Given the description of an element on the screen output the (x, y) to click on. 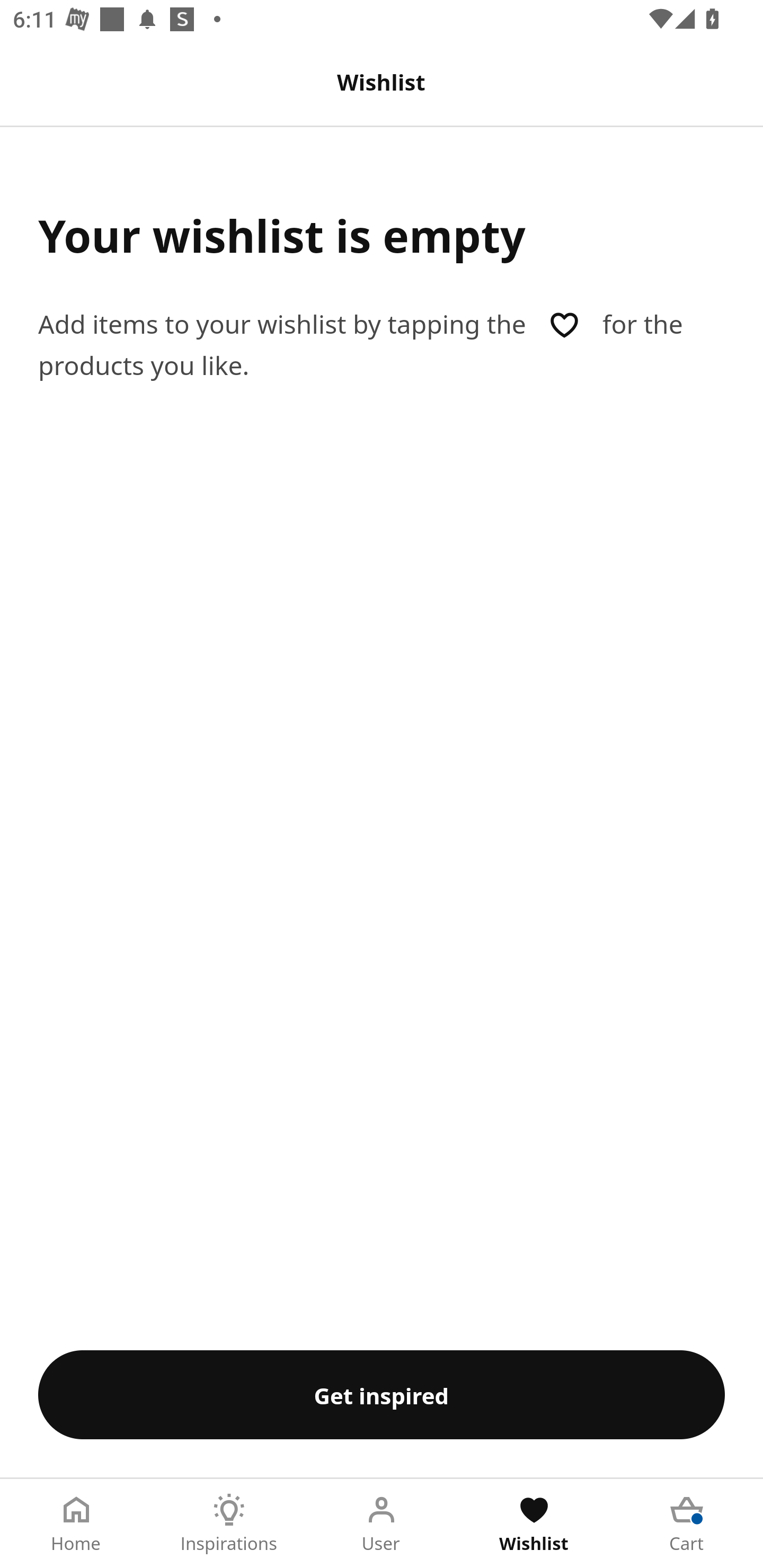
Get inspired (381, 1394)
Home
Tab 1 of 5 (76, 1522)
Inspirations
Tab 2 of 5 (228, 1522)
User
Tab 3 of 5 (381, 1522)
Wishlist
Tab 4 of 5 (533, 1522)
Cart
Tab 5 of 5 (686, 1522)
